Given the description of an element on the screen output the (x, y) to click on. 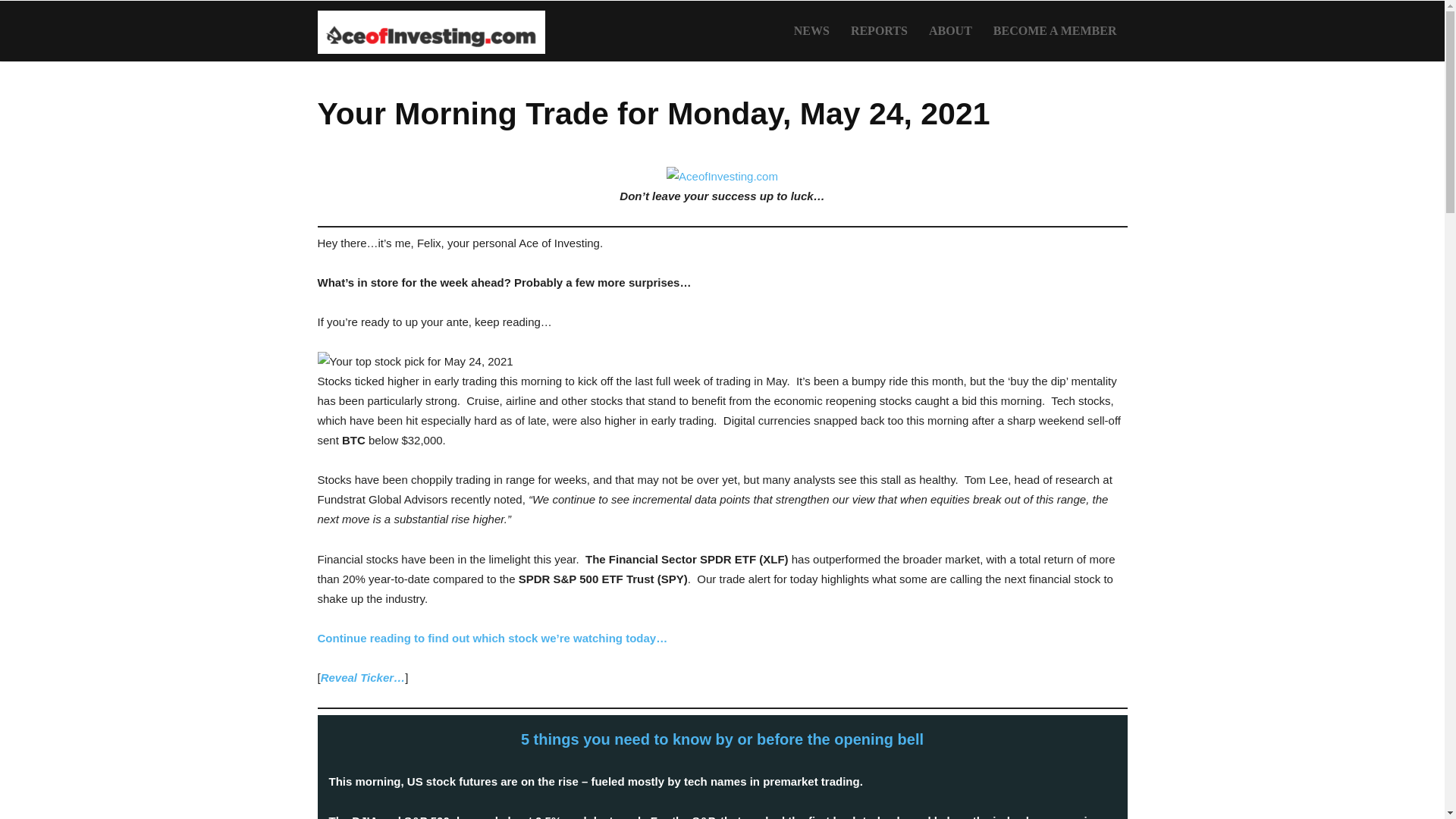
5 things you need to know by or before the opening bell (722, 739)
NEWS (811, 30)
BECOME A MEMBER (1054, 30)
Ace of Investing (430, 30)
ABOUT (950, 30)
REPORTS (879, 30)
